Given the description of an element on the screen output the (x, y) to click on. 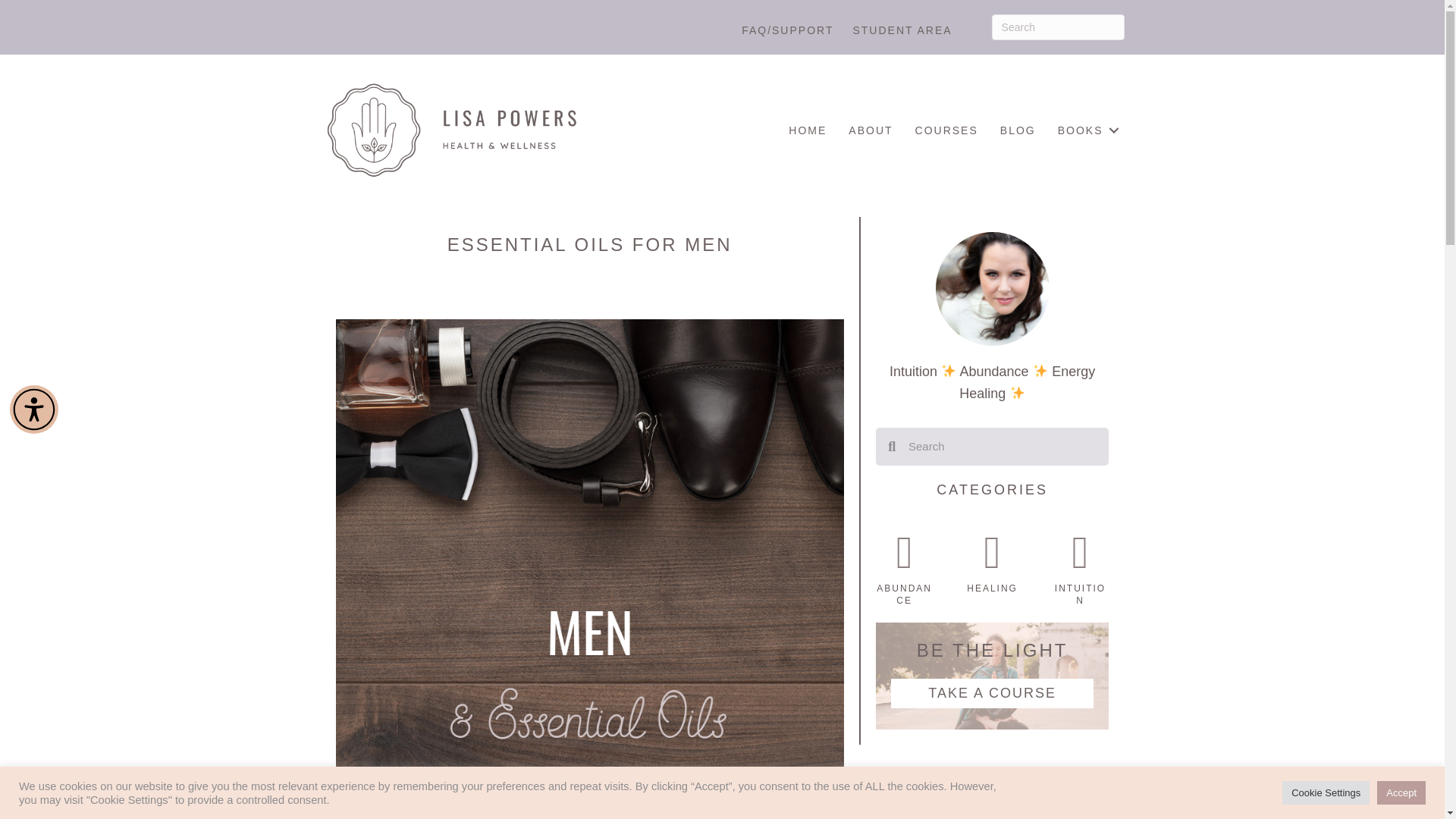
HEALING (991, 588)
Lisa-Powers (450, 130)
ABUNDANCE (903, 594)
HOME (807, 130)
TAKE A COURSE (992, 693)
Search (1001, 446)
Intuition (1079, 594)
STUDENT AREA (901, 30)
Healing (991, 588)
ABOUT (870, 130)
Type and press Enter to search. (1057, 27)
Abundance (903, 594)
BLOG (1018, 130)
COURSES (946, 130)
INTUITION (1079, 594)
